Given the description of an element on the screen output the (x, y) to click on. 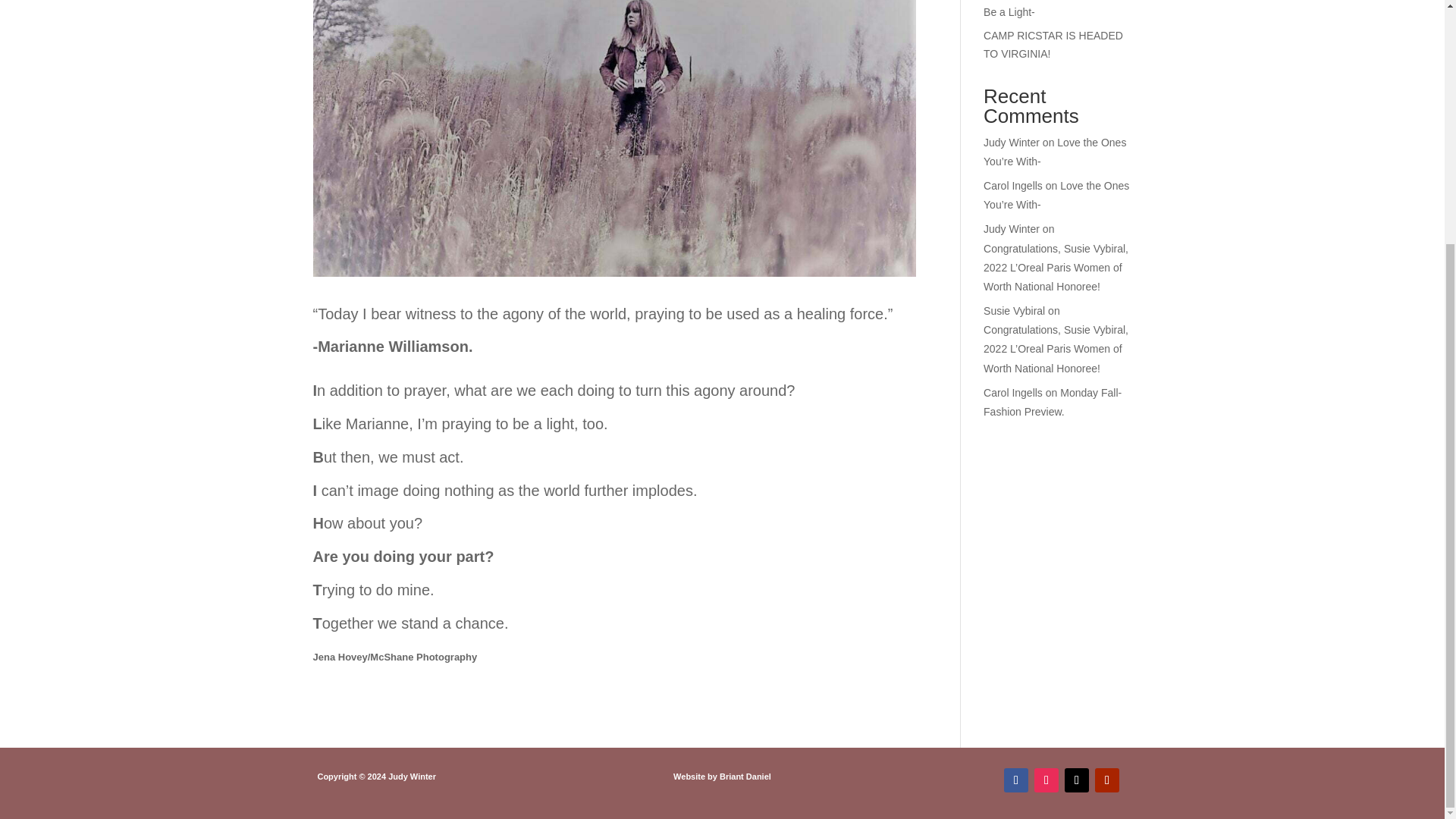
Follow on Instagram (1045, 780)
Follow on Facebook (1015, 780)
Follow on X (1076, 780)
Follow on Youtube (1106, 780)
